Given the description of an element on the screen output the (x, y) to click on. 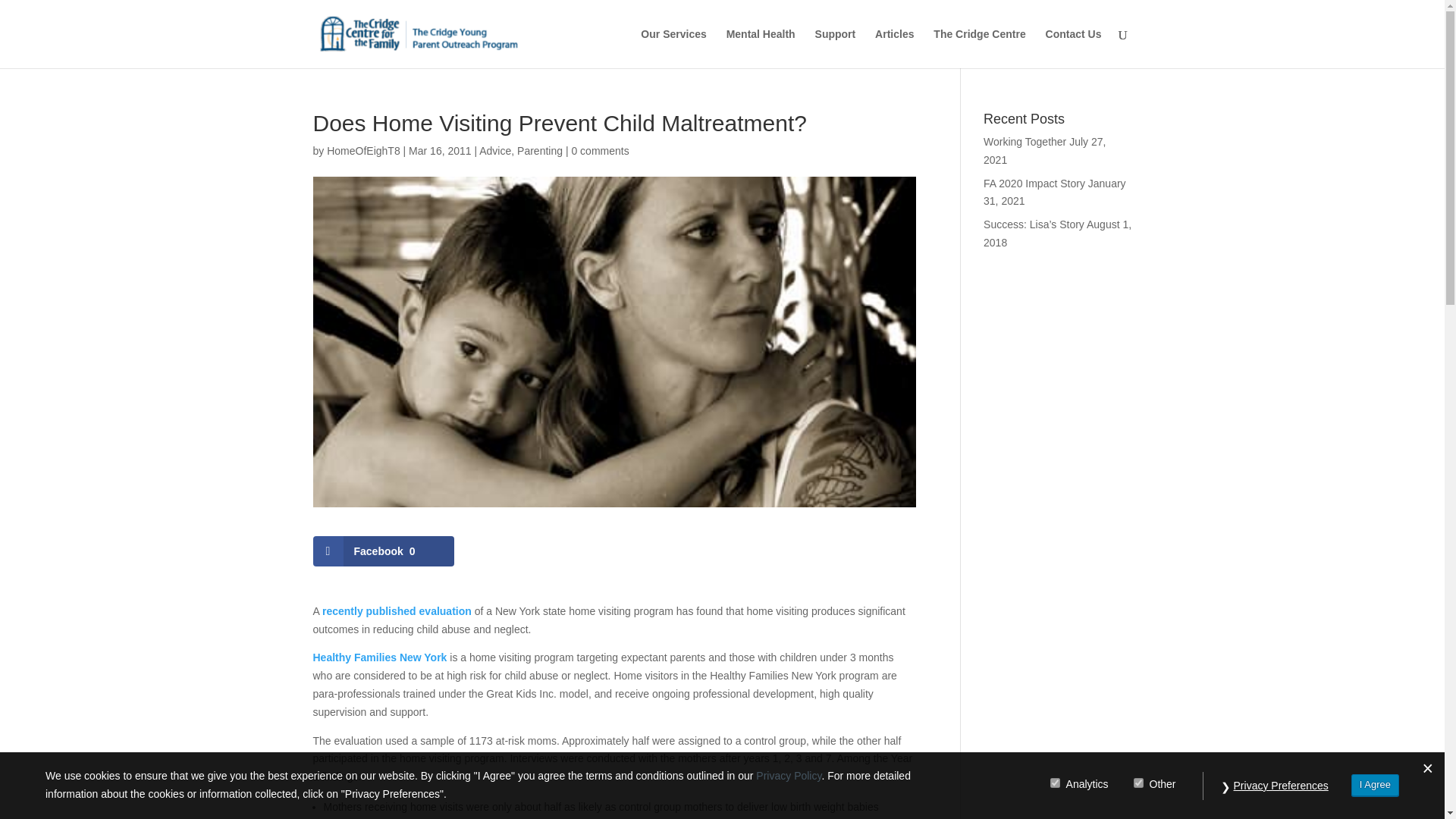
0 comments (599, 150)
Working Together (1024, 141)
Articles (894, 47)
Posts by HomeOfEighT8 (362, 150)
HomeOfEighT8 (362, 150)
Contact Us (1073, 47)
recently published evaluation (396, 611)
Advice (495, 150)
Healthy Families New York (379, 657)
FA 2020 Impact Story (1034, 183)
Mental Health (760, 47)
Parenting (539, 150)
The Cridge Centre (979, 47)
Other (1137, 782)
Our Services (673, 47)
